Given the description of an element on the screen output the (x, y) to click on. 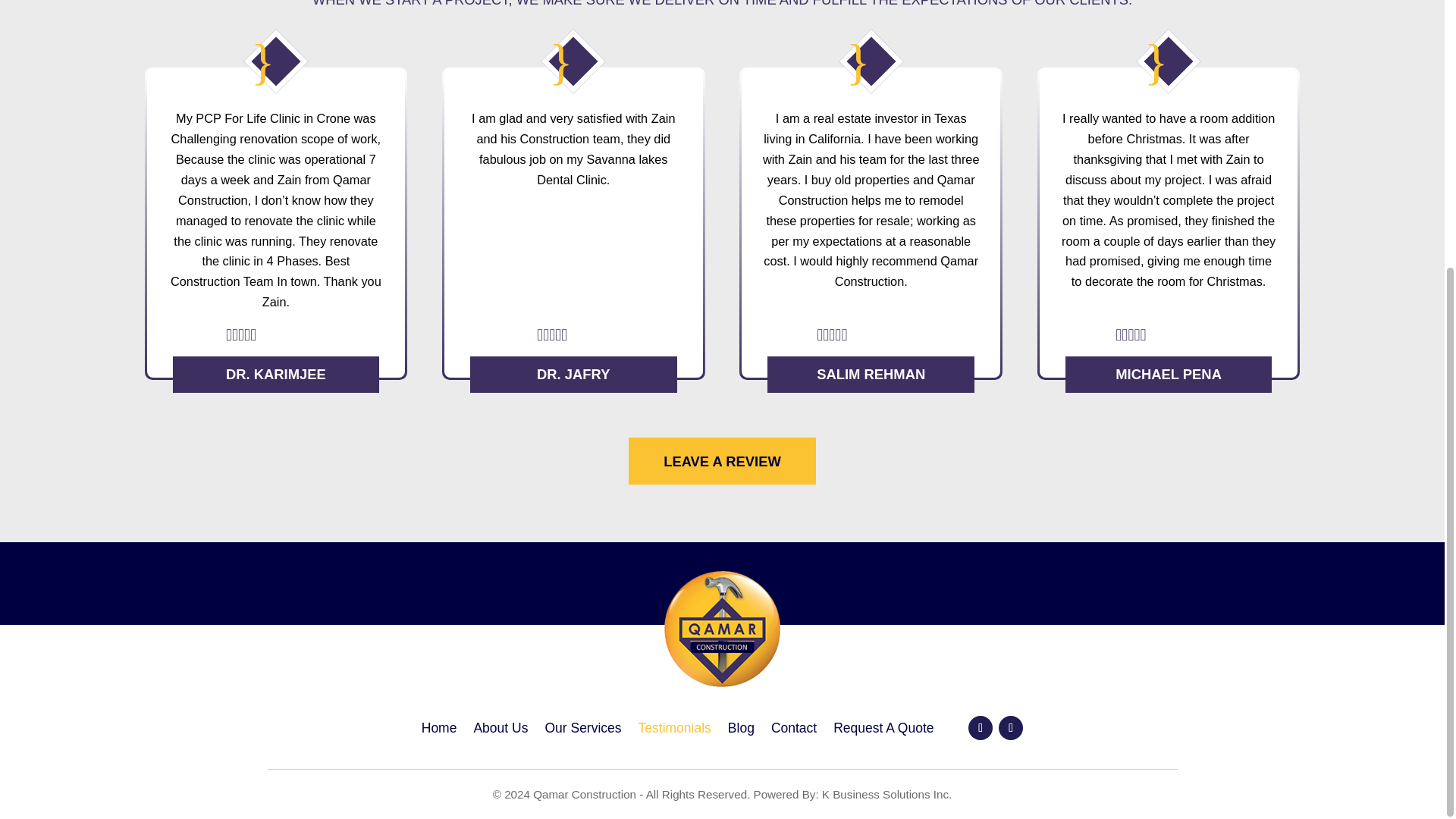
Our Services (582, 730)
Contact (793, 730)
LEAVE A REVIEW (721, 460)
Testimonials (675, 730)
Follow on Instagram (1010, 727)
Request A Quote (882, 730)
About Us (500, 730)
Qamar Construction (720, 628)
Home (439, 730)
Blog (741, 730)
Follow on Facebook (980, 727)
